Given the description of an element on the screen output the (x, y) to click on. 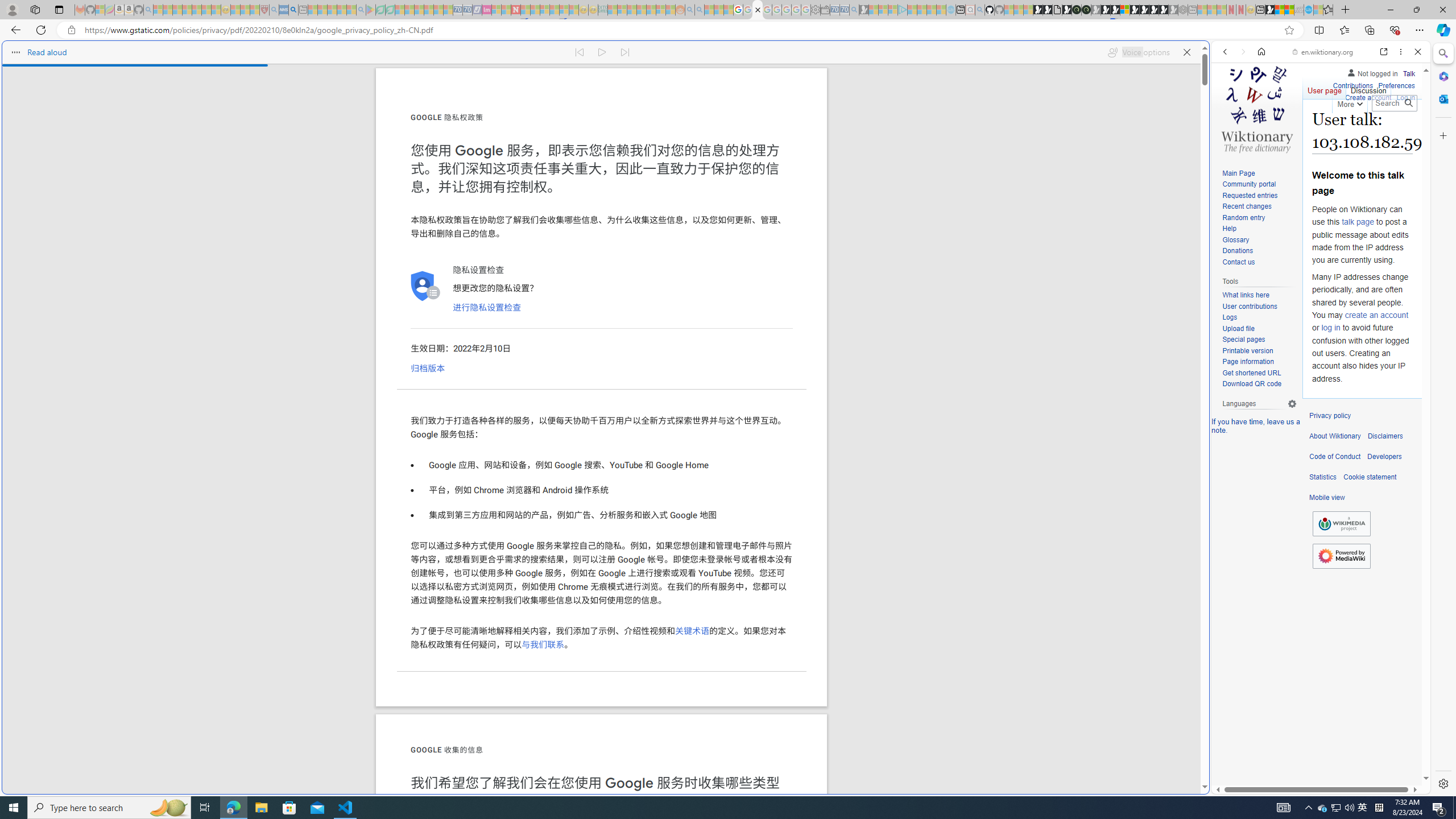
Powered by MediaWiki (1341, 555)
Special pages (1259, 339)
Privacy policy (1329, 415)
Tabs you've opened (885, 151)
google_privacy_policy_zh-CN.pdf (1118, 683)
Wikimedia Foundation (1341, 523)
Code of Conduct (1334, 456)
Developers (1384, 456)
